Given the description of an element on the screen output the (x, y) to click on. 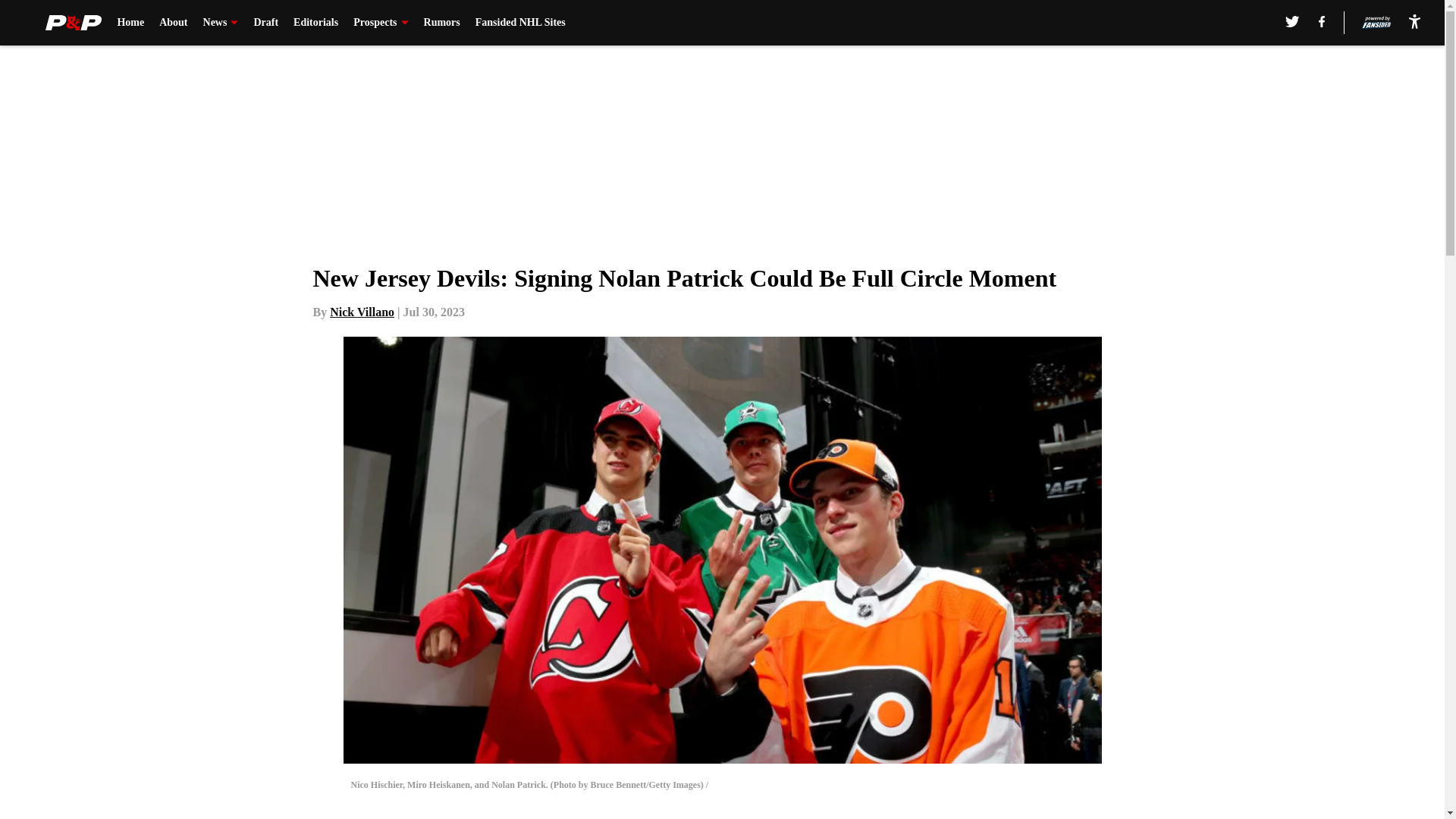
About (172, 22)
Draft (265, 22)
Fansided NHL Sites (521, 22)
Editorials (315, 22)
Rumors (441, 22)
Nick Villano (362, 311)
Home (130, 22)
